Given the description of an element on the screen output the (x, y) to click on. 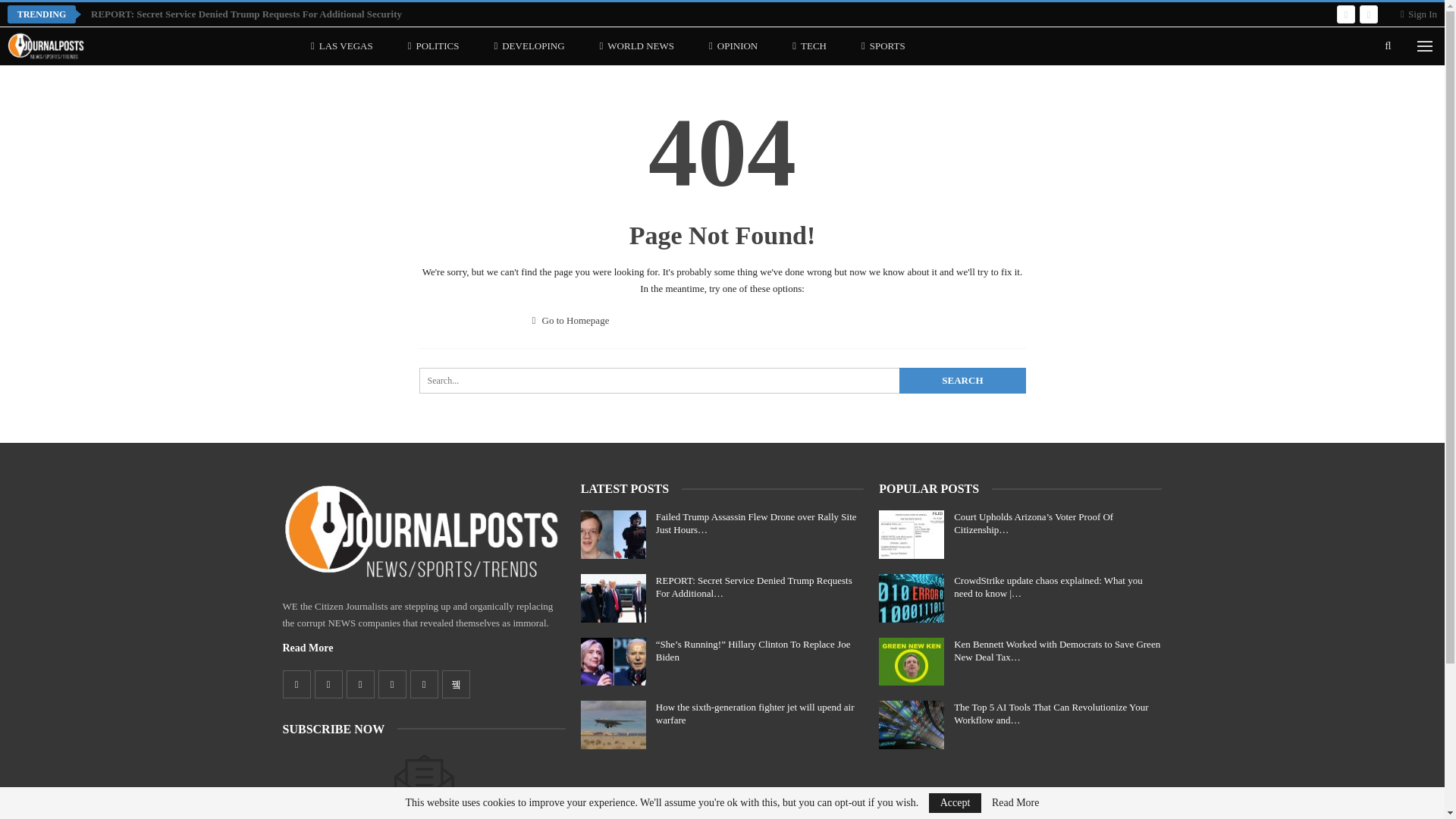
OPINION (732, 46)
How the sixth-generation fighter jet will upend air warfare (613, 725)
Search for: (722, 380)
TECH (809, 46)
POLITICS (433, 46)
Sign In (1418, 13)
Go to Homepage (571, 319)
SPORTS (883, 46)
Search (962, 380)
Search (962, 380)
LAS VEGAS (342, 46)
Read More (307, 647)
Search (962, 380)
